Given the description of an element on the screen output the (x, y) to click on. 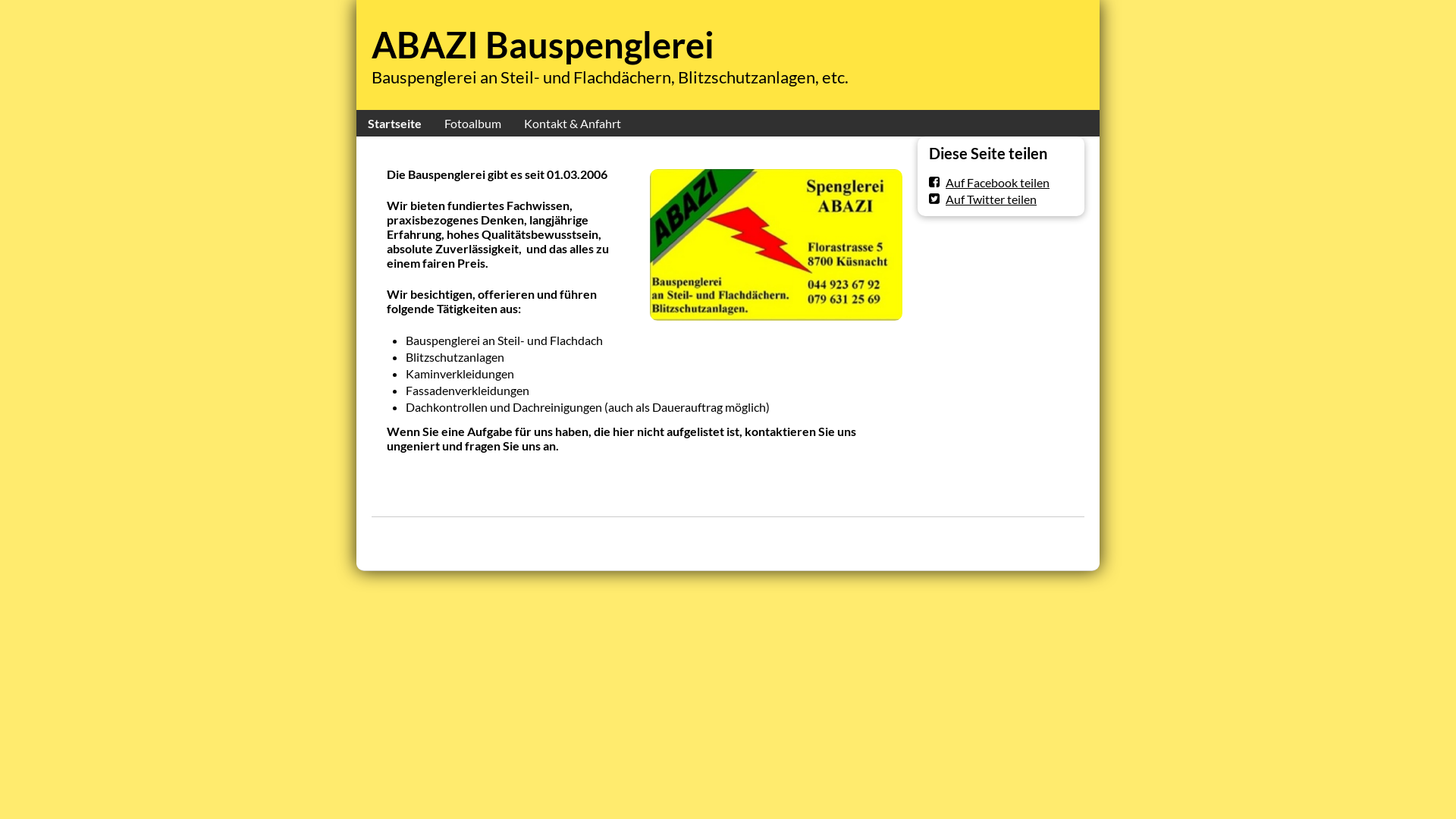
Kontakt & Anfahrt Element type: text (572, 122)
Auf Twitter teilen Element type: text (982, 198)
Auf Facebook teilen Element type: text (988, 181)
Fotoalbum Element type: text (472, 122)
Startseite Element type: text (394, 122)
ABAZI Bauspenglerei Element type: text (542, 44)
